Given the description of an element on the screen output the (x, y) to click on. 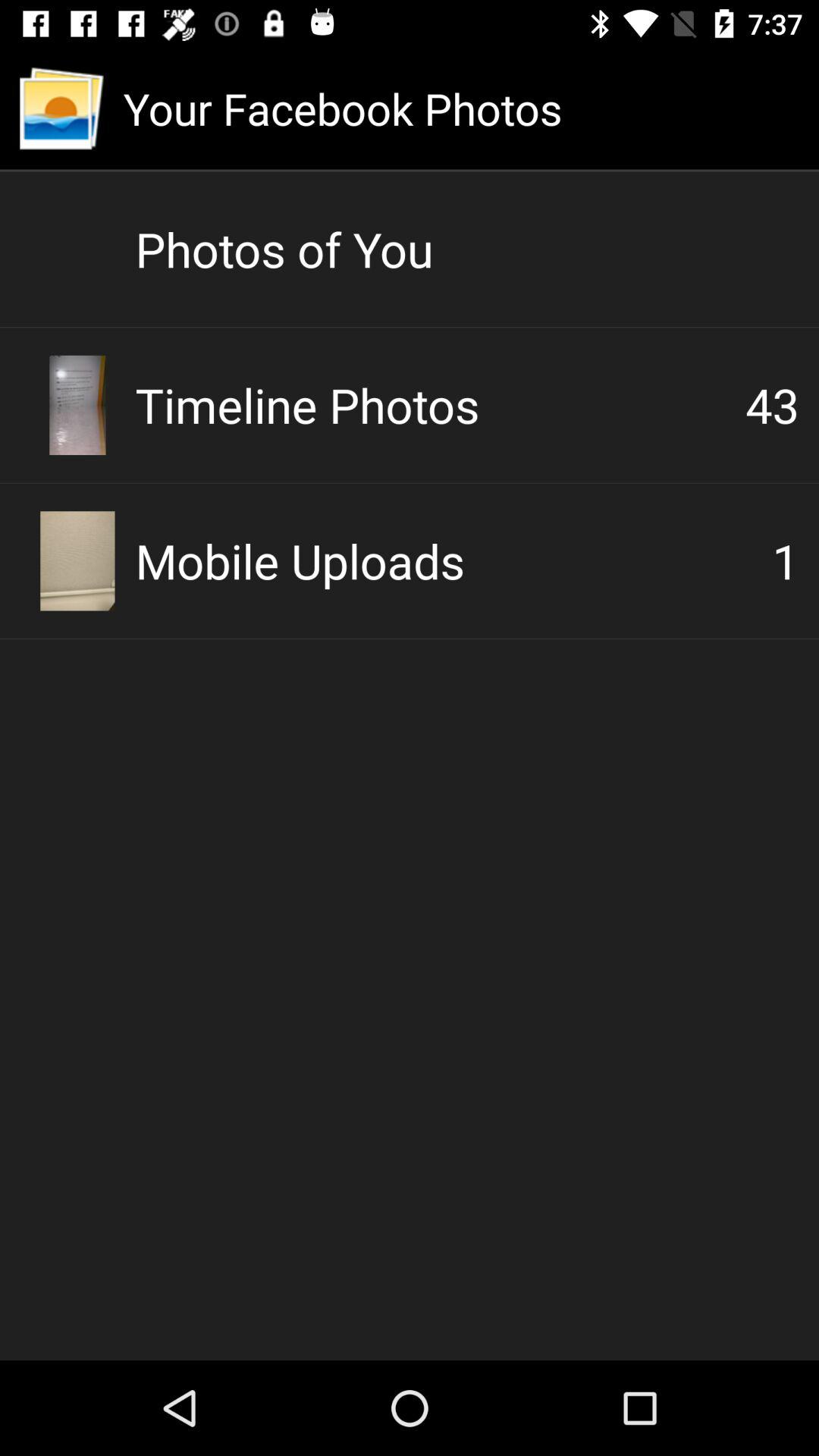
select app at the center (453, 560)
